Given the description of an element on the screen output the (x, y) to click on. 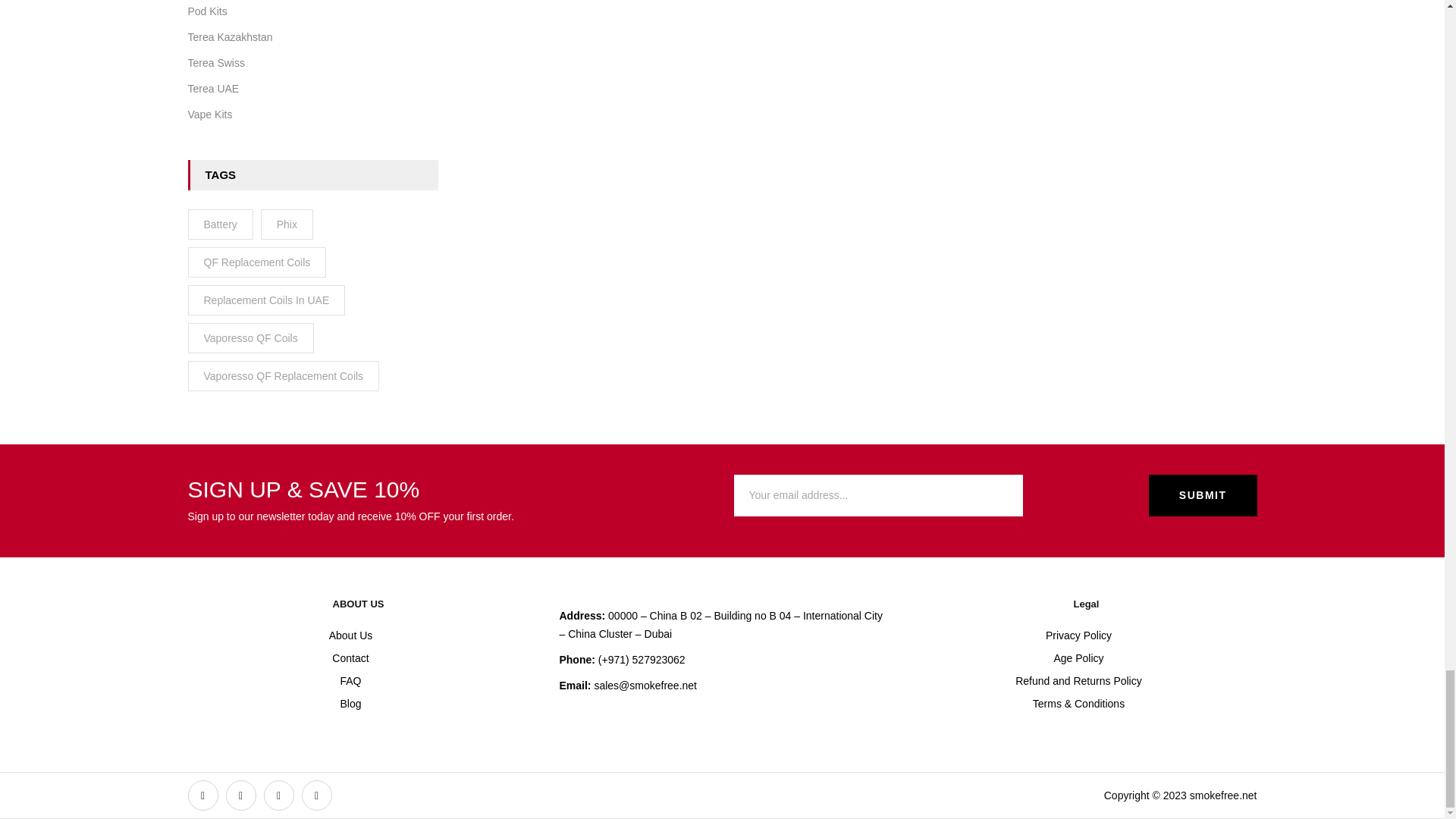
SUBMIT (1202, 495)
